Given the description of an element on the screen output the (x, y) to click on. 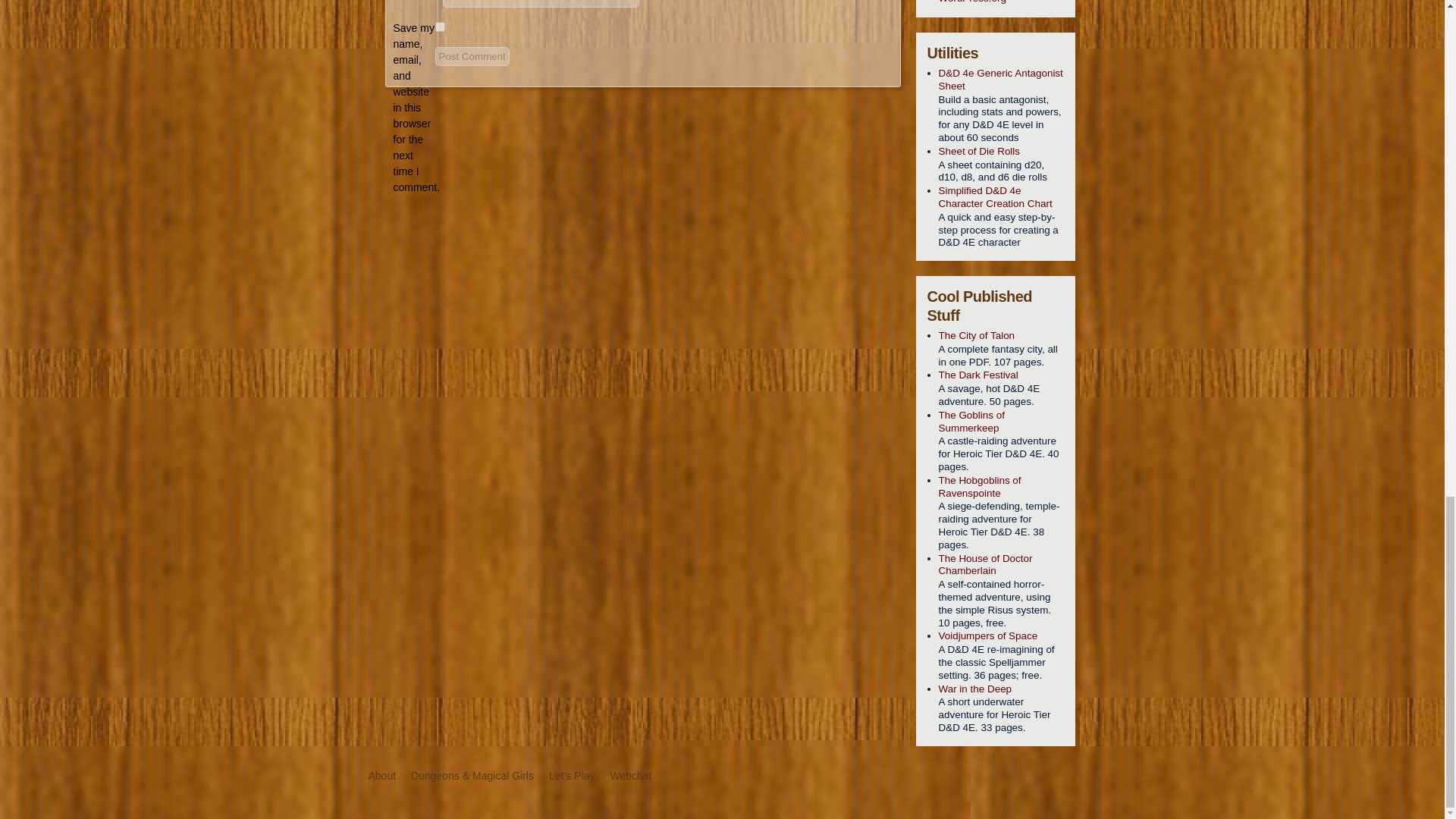
A complete fantasy city, all in one PDF. 107 pages. (1001, 336)
yes (440, 26)
Post Comment (472, 56)
Post Comment (472, 56)
A sheet containing d20, d10, d8, and d6 die rolls (1001, 151)
